Given the description of an element on the screen output the (x, y) to click on. 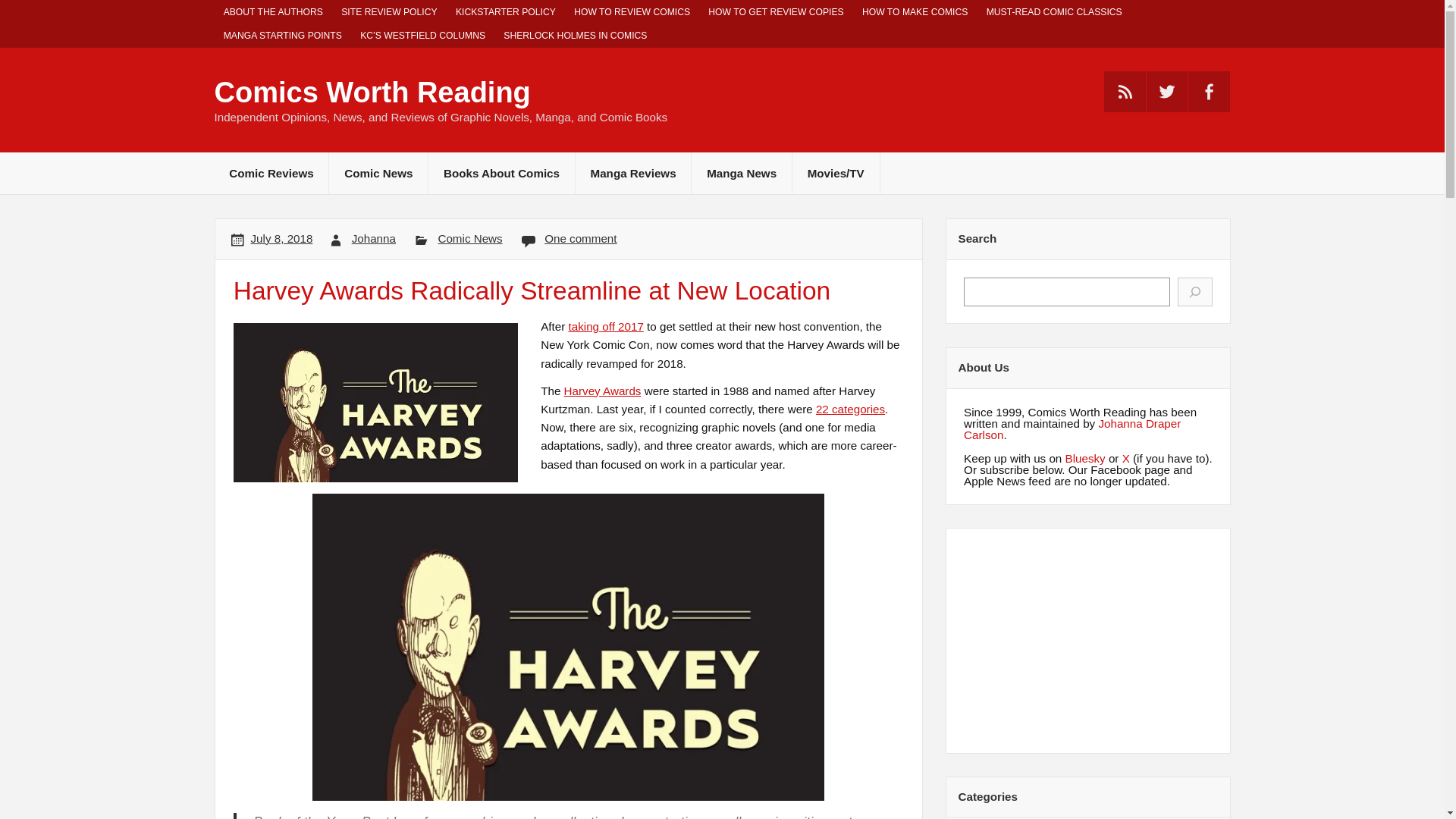
One comment (579, 237)
Comics Worth Reading (371, 92)
July 8, 2018 (281, 237)
Harvey Awards (603, 390)
Comic News (470, 237)
taking off 2017 (606, 326)
MUST-READ COMIC CLASSICS (1053, 12)
ABOUT THE AUTHORS (272, 12)
22 categories (850, 408)
SITE REVIEW POLICY (388, 12)
Johanna (374, 237)
KICKSTARTER POLICY (505, 12)
Comic Reviews (271, 173)
HOW TO MAKE COMICS (914, 12)
Books About Comics (501, 173)
